Given the description of an element on the screen output the (x, y) to click on. 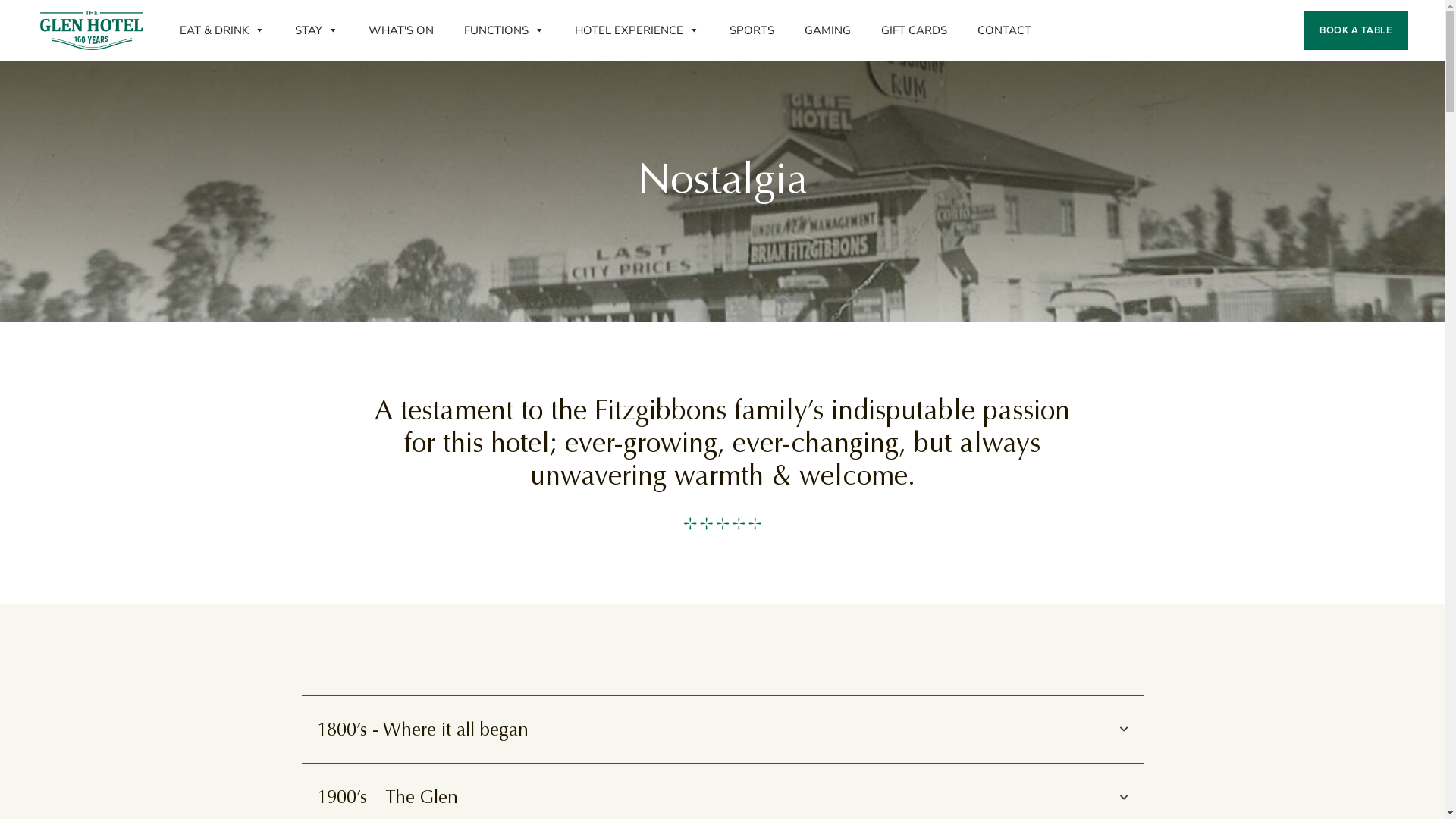
CONTACT Element type: text (1003, 30)
GAMING Element type: text (827, 30)
HOTEL EXPERIENCE Element type: text (636, 30)
STAY Element type: text (316, 30)
GIFT CARDS Element type: text (913, 30)
WHAT'S ON Element type: text (400, 30)
BOOK A TABLE Element type: text (1355, 30)
SPORTS Element type: text (751, 30)
EAT & DRINK Element type: text (222, 30)
FUNCTIONS Element type: text (504, 30)
